Given the description of an element on the screen output the (x, y) to click on. 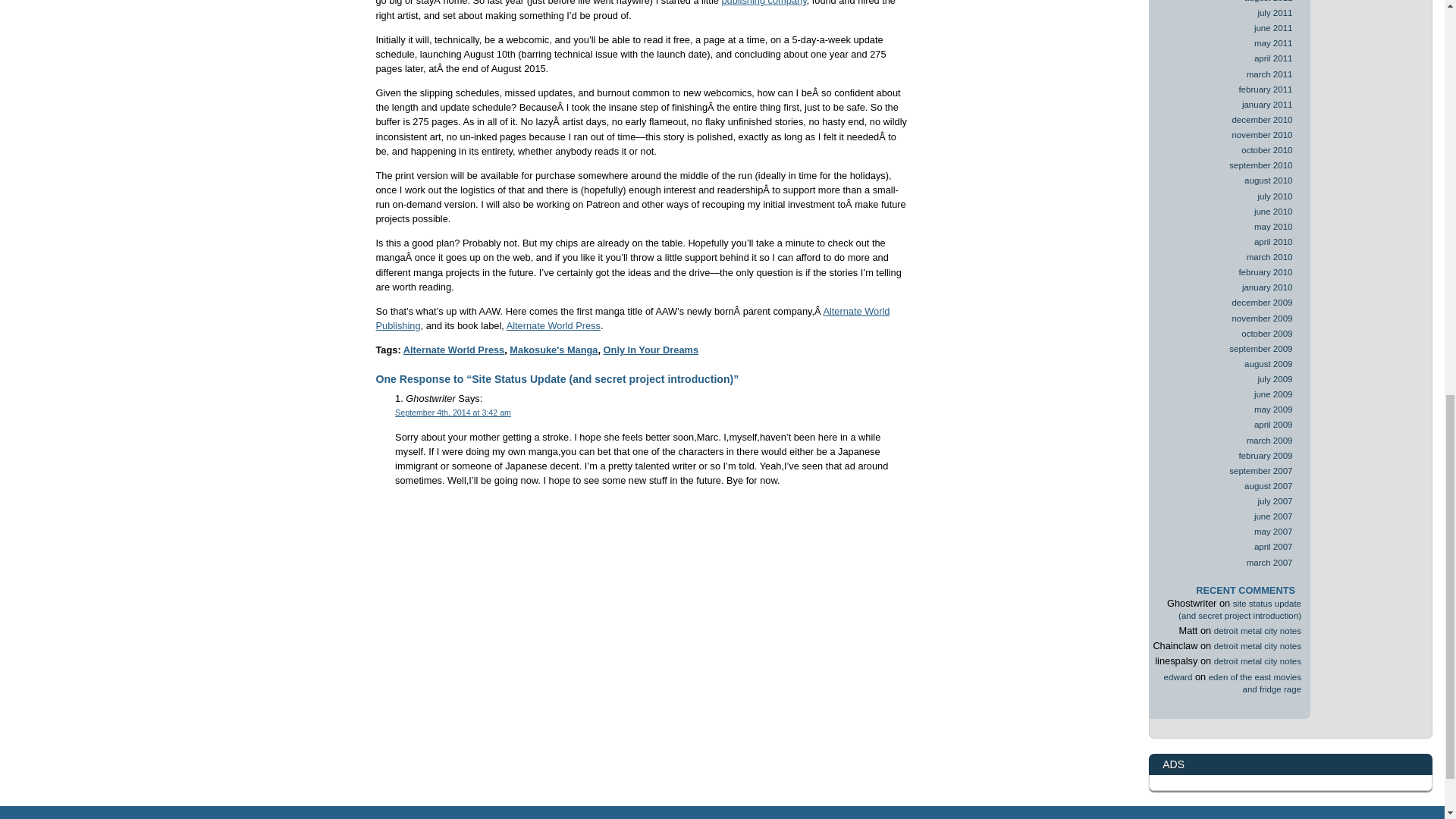
Alternate World Press (552, 325)
Makosuke's Manga (552, 349)
Only In Your Dreams (651, 349)
publishing company (763, 2)
Alternate World Publishing (632, 318)
Alternate World Press (453, 349)
September 4th, 2014 at 3:42 am (452, 411)
